Given the description of an element on the screen output the (x, y) to click on. 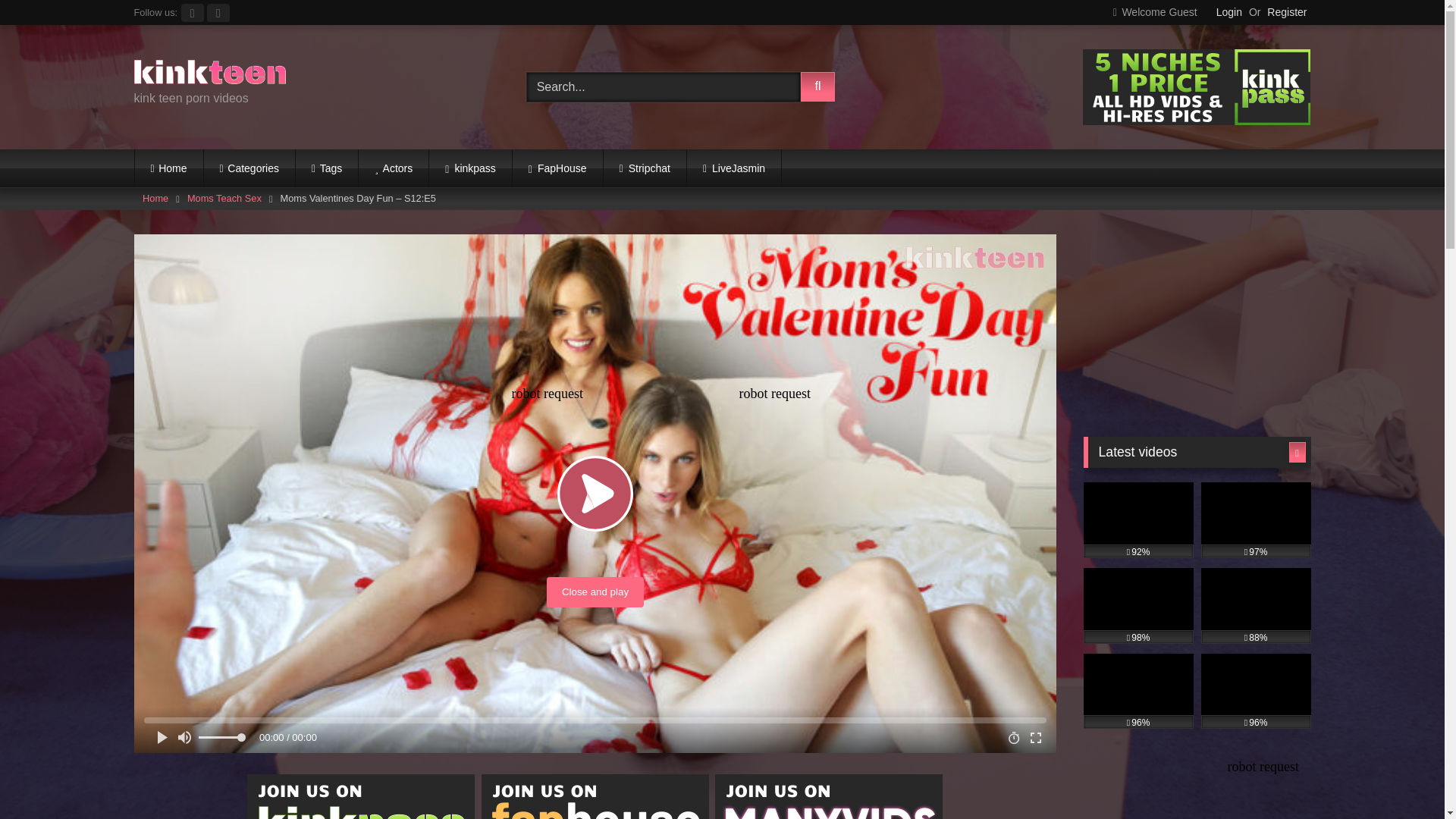
Register (1286, 12)
Tags (326, 168)
kinkpass (470, 168)
Categories (249, 168)
Home (155, 198)
Stripchat (644, 168)
FapHouse (557, 168)
LiveJasmin (733, 168)
Actors (393, 168)
kinkteen.com (209, 74)
